Given the description of an element on the screen output the (x, y) to click on. 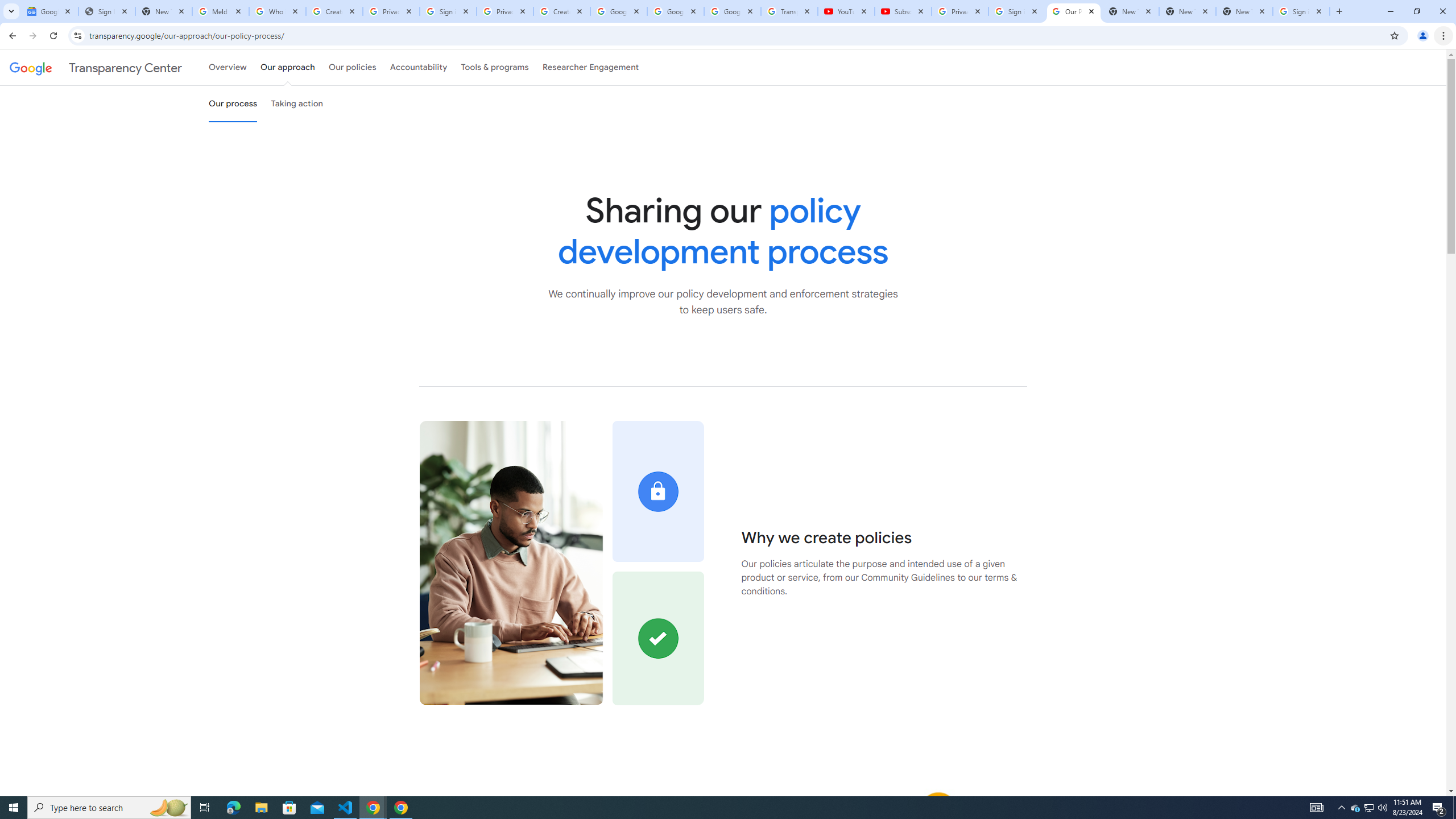
Create your Google Account (561, 11)
Sign in - Google Accounts (1301, 11)
Tools & programs (494, 67)
Create your Google Account (334, 11)
Our process (232, 103)
New Tab (1244, 11)
Our policies (351, 67)
